Given the description of an element on the screen output the (x, y) to click on. 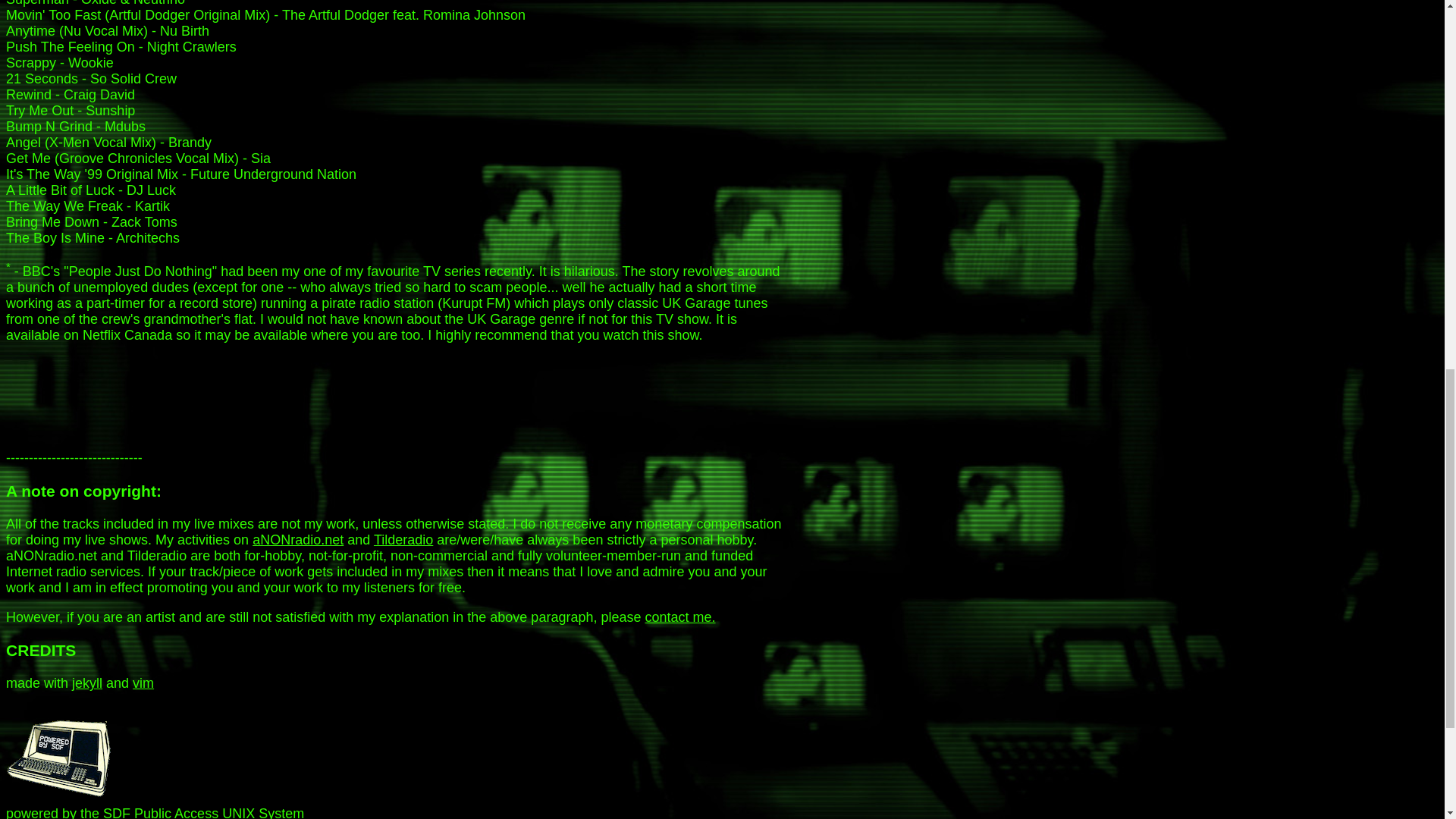
vim (143, 683)
jekyll (86, 683)
Tilderadio (403, 539)
aNONradio.net (297, 539)
powered by the SDF Public Access UNIX System (62, 753)
contact me. (679, 616)
